Given the description of an element on the screen output the (x, y) to click on. 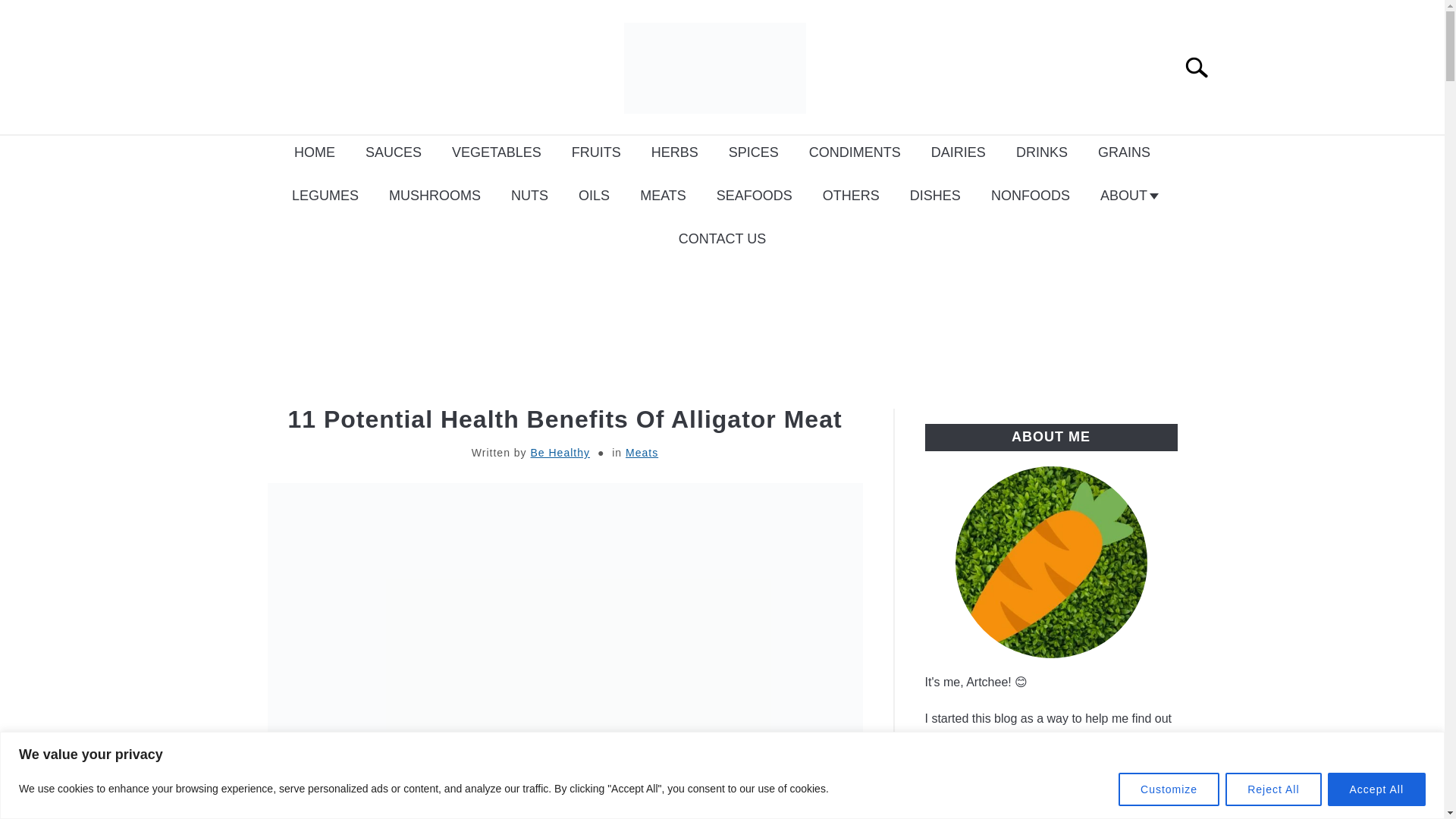
DAIRIES (958, 152)
DISHES (935, 195)
FRUITS (596, 152)
VEGETABLES (496, 152)
LEGUMES (325, 195)
HERBS (674, 152)
Reject All (1272, 788)
OILS (593, 195)
DRINKS (1042, 152)
